Given the description of an element on the screen output the (x, y) to click on. 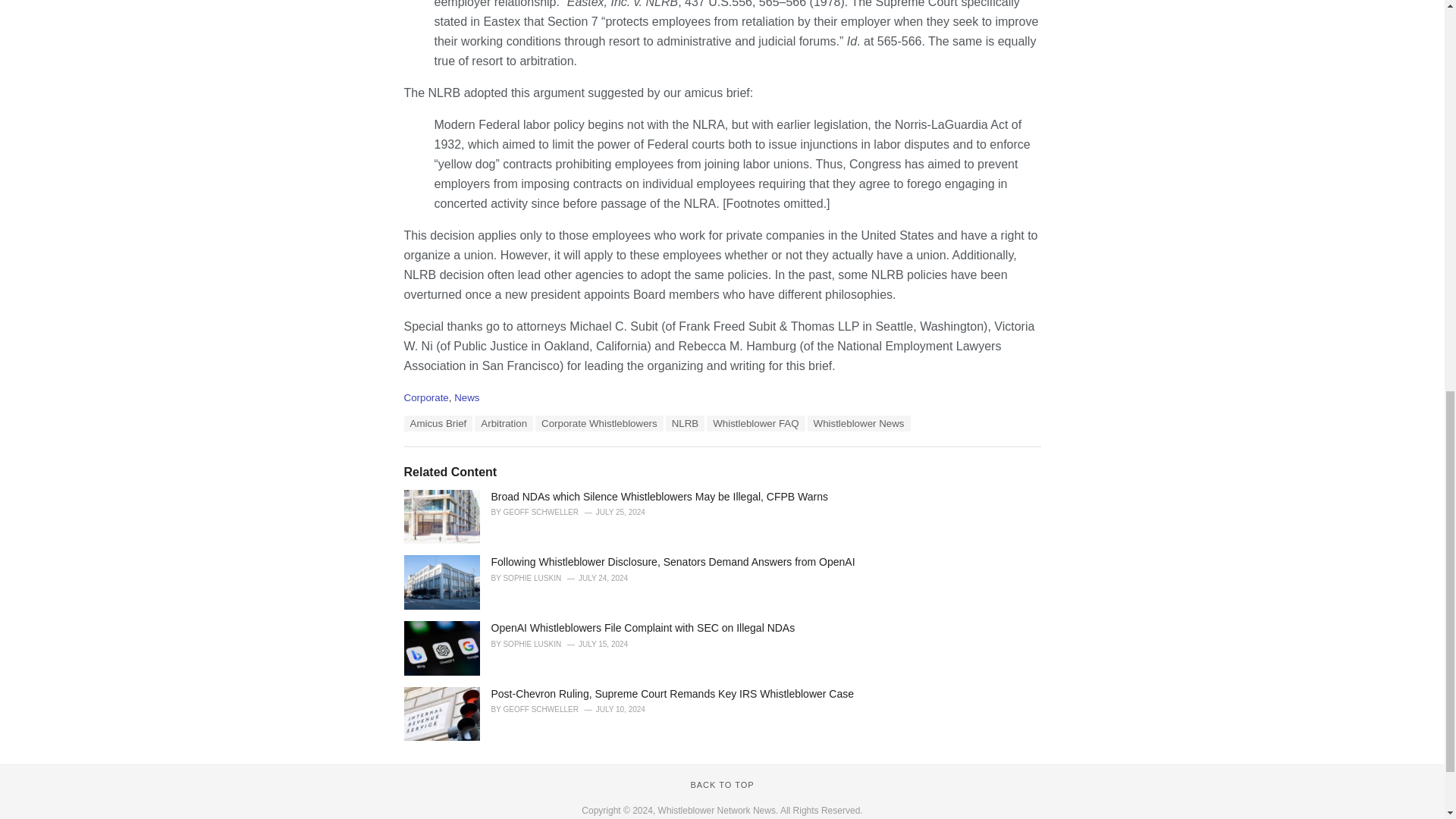
Corporate Whistleblowers (599, 423)
Corporate (425, 397)
Amicus Brief (437, 423)
News (466, 397)
Arbitration (503, 423)
Whistleblower FAQ (755, 423)
BACK TO TOP (722, 784)
